Given the description of an element on the screen output the (x, y) to click on. 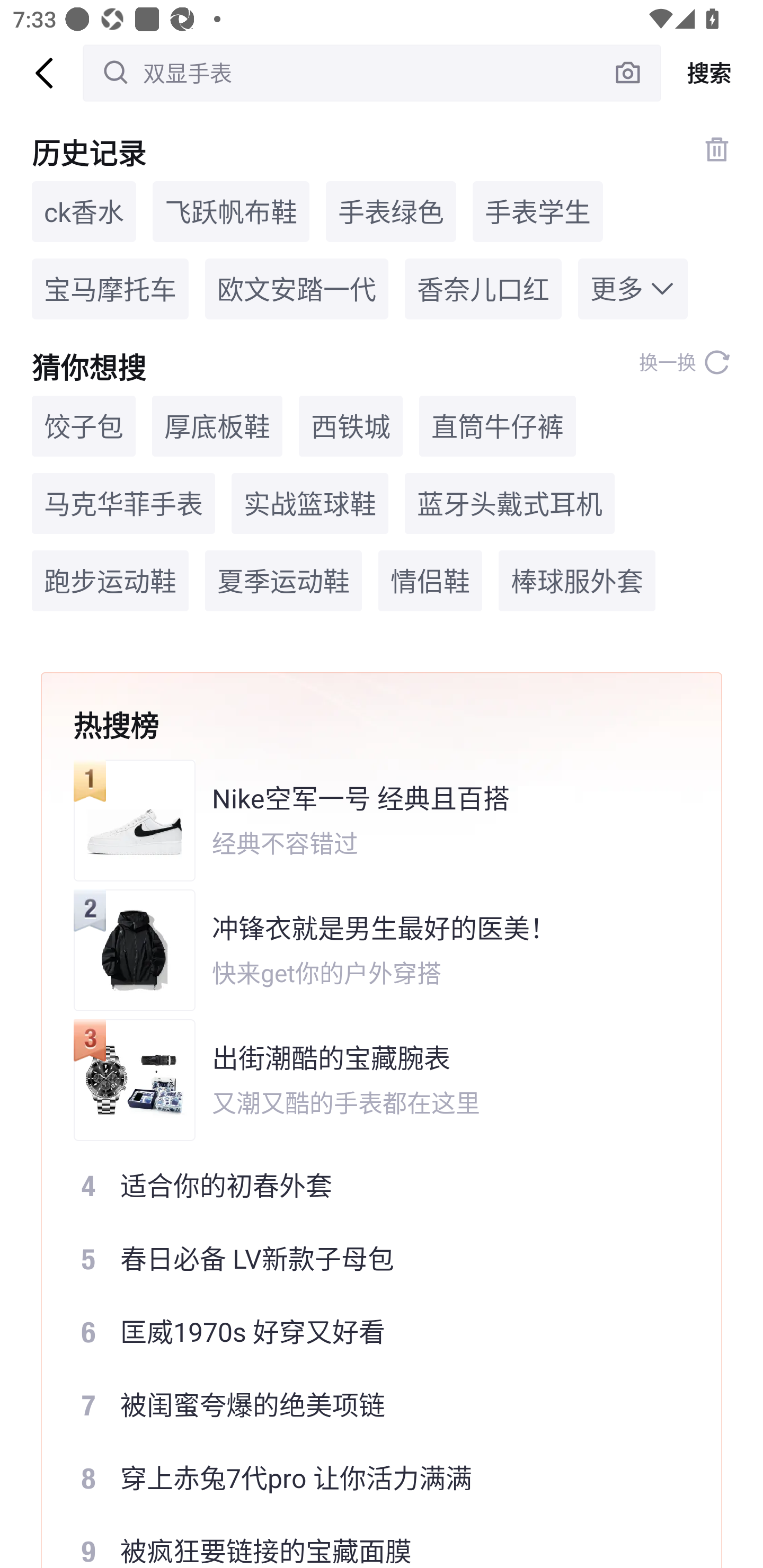
搜索 (712, 72)
双显手表 (371, 72)
ck香水 (83, 211)
飞跃帆布鞋 (230, 211)
手表绿色 (390, 211)
手表学生 (537, 211)
宝马摩托车 (110, 288)
欧文安踏一代 (296, 288)
香奈儿口红 (483, 288)
更多  (632, 288)
换一换 (684, 362)
饺子包 (83, 425)
厚底板鞋 (216, 425)
西铁城 (350, 425)
直筒牛仔裤 (497, 425)
马克华菲手表 (123, 503)
实战篮球鞋 (309, 503)
蓝牙头戴式耳机 (509, 503)
跑步运动鞋 (110, 580)
夏季运动鞋 (283, 580)
情侣鞋 (430, 580)
棒球服外套 (576, 580)
Nike空军一号 经典且百搭 经典不容错过 (369, 819)
冲锋衣就是男生最好的医美！ 快来get你的户外穿搭 (369, 950)
出街潮酷的宝藏腕表 又潮又酷的手表都在这里 (369, 1080)
4 适合你的初春外套 (369, 1185)
5 春日必备 LV新款子母包 (369, 1258)
6 匡威1970s 好穿又好看 (369, 1331)
7 被闺蜜夸爆的绝美项链 (369, 1404)
8 穿上赤兔7代pro 让你活力满满 (369, 1477)
9 被疯狂要链接的宝藏面膜 (369, 1541)
